Given the description of an element on the screen output the (x, y) to click on. 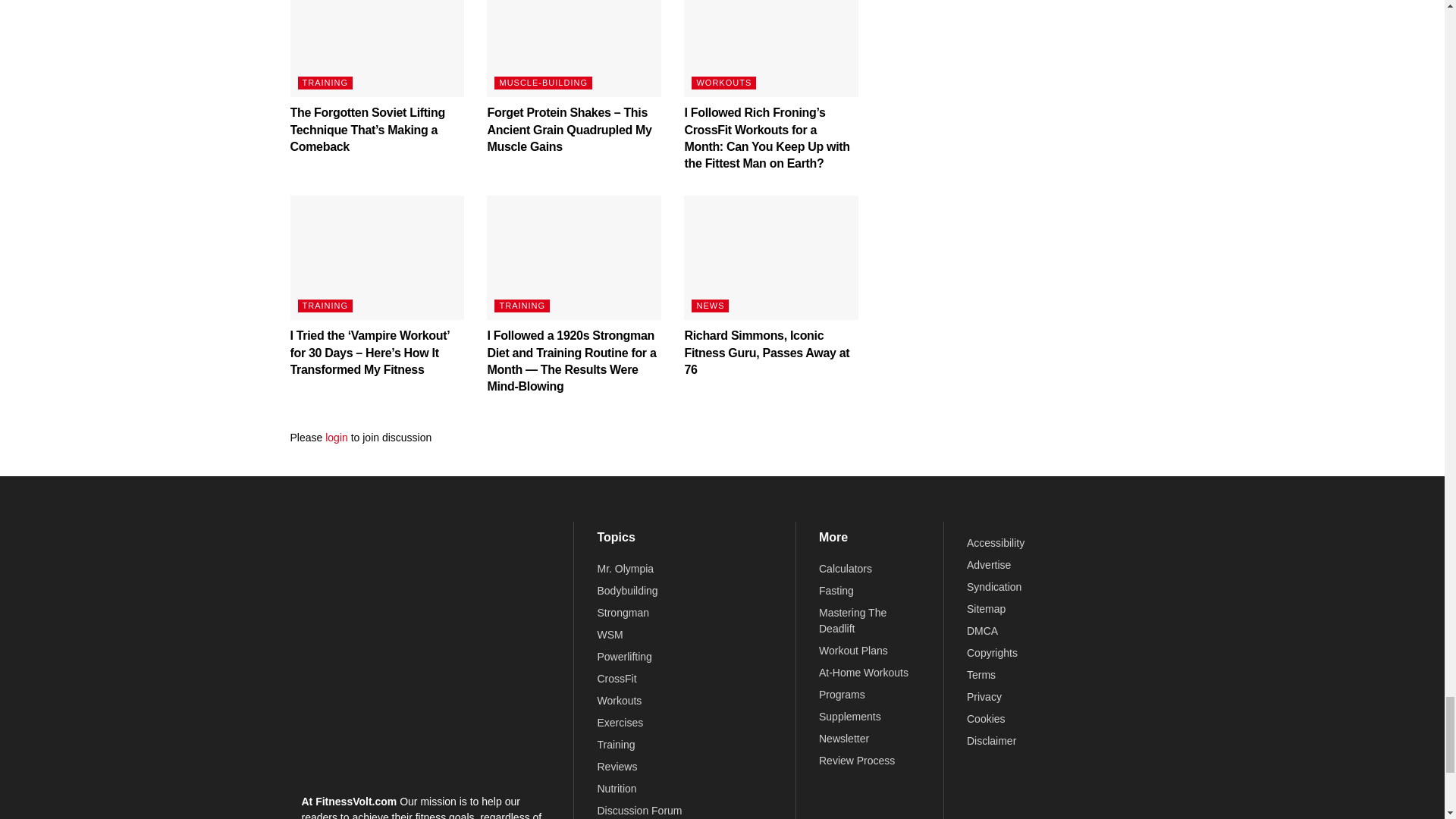
Accessibility Conformance Status (995, 542)
2019 Mr. Olympia News (624, 568)
